Given the description of an element on the screen output the (x, y) to click on. 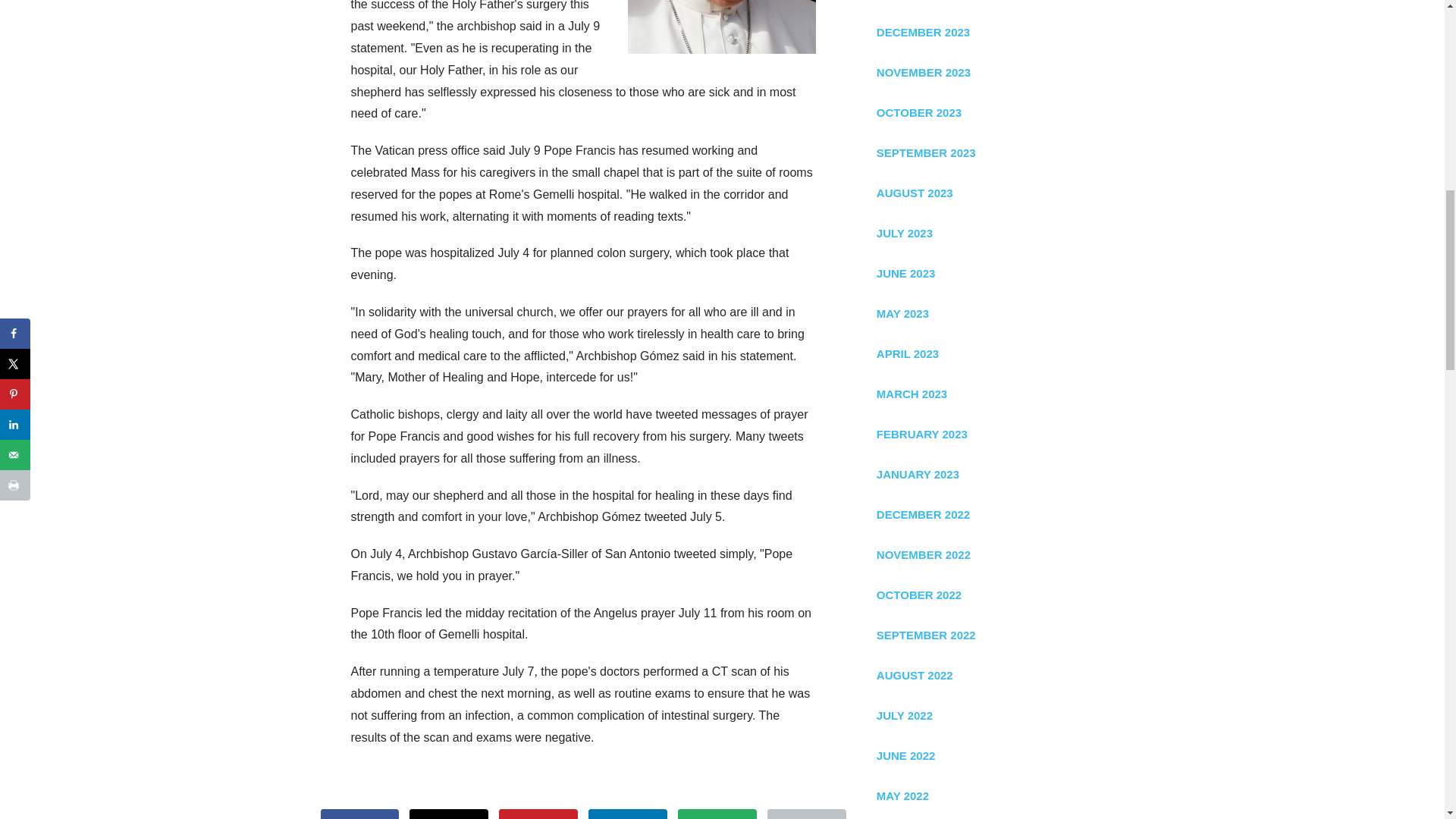
LinkedIn (627, 814)
Share on X (448, 814)
Email (717, 814)
Print this webpage (806, 814)
Share on Facebook (359, 814)
Pin (538, 814)
Send over email (717, 814)
Share (359, 814)
Share on LinkedIn (627, 814)
Save to Pinterest (538, 814)
Print (806, 814)
Tweet (448, 814)
